Given the description of an element on the screen output the (x, y) to click on. 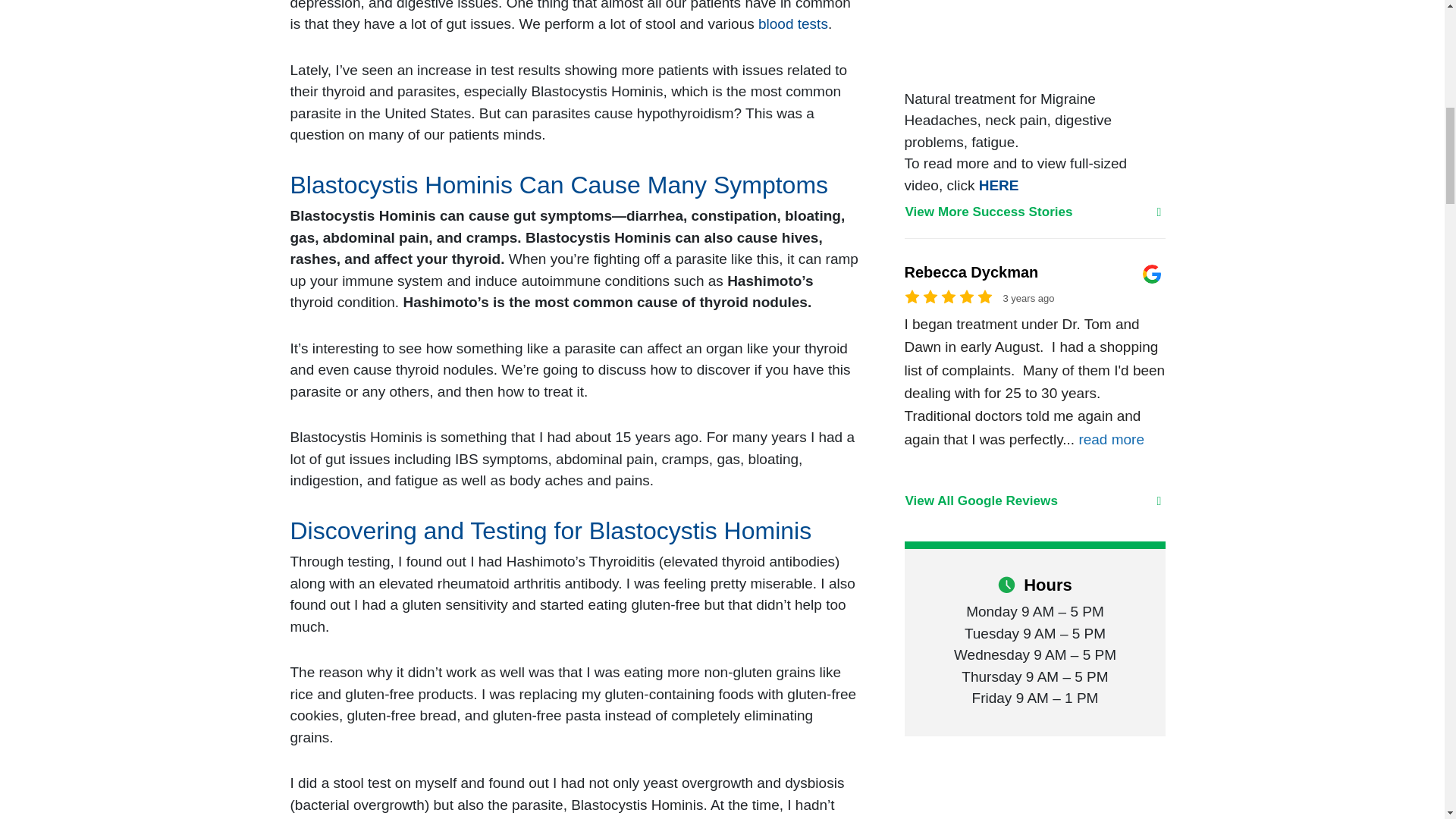
blood tests (793, 23)
